Given the description of an element on the screen output the (x, y) to click on. 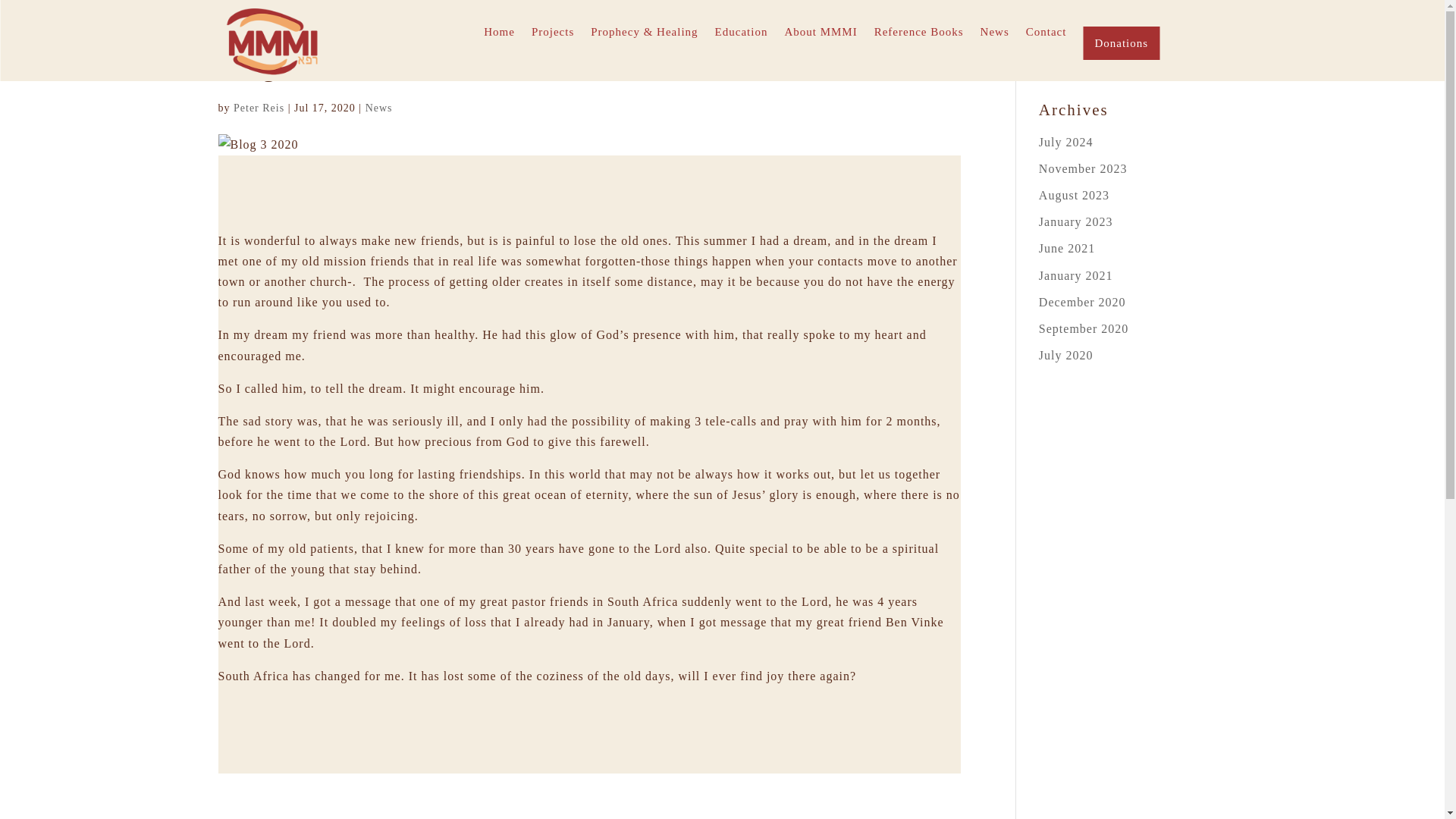
News (379, 107)
January 2023 (1076, 221)
January 2021 (1076, 275)
Home (499, 42)
Search (1203, 59)
Projects (552, 42)
August 2023 (1074, 195)
Search (1203, 59)
Donations (1120, 42)
Education (741, 42)
